Given the description of an element on the screen output the (x, y) to click on. 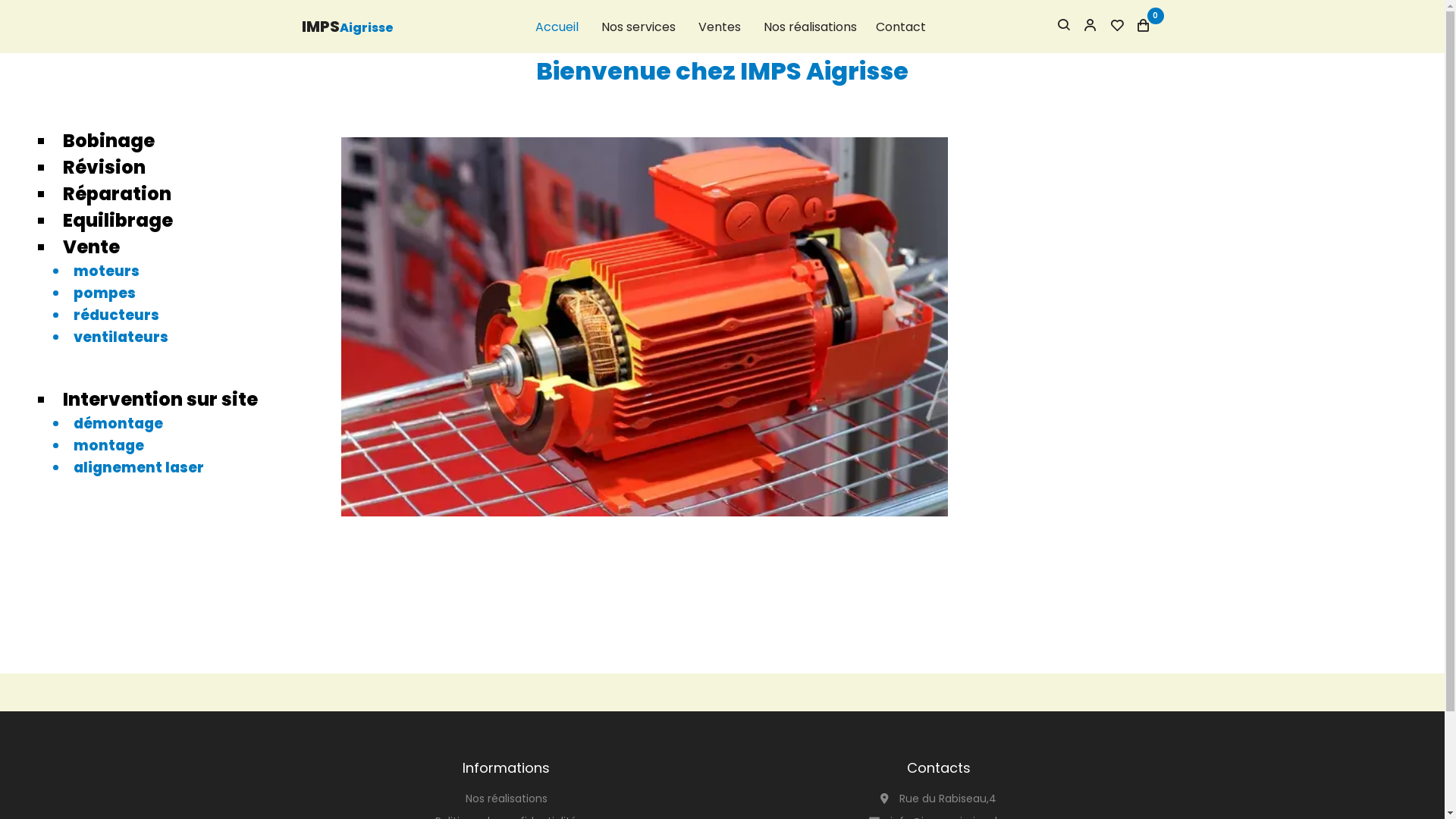
Contact Element type: text (899, 26)
IMPSAigrisse Element type: text (347, 26)
Ventes Element type: text (718, 26)
Nos services Element type: text (637, 26)
Accueil Element type: text (556, 26)
